Given the description of an element on the screen output the (x, y) to click on. 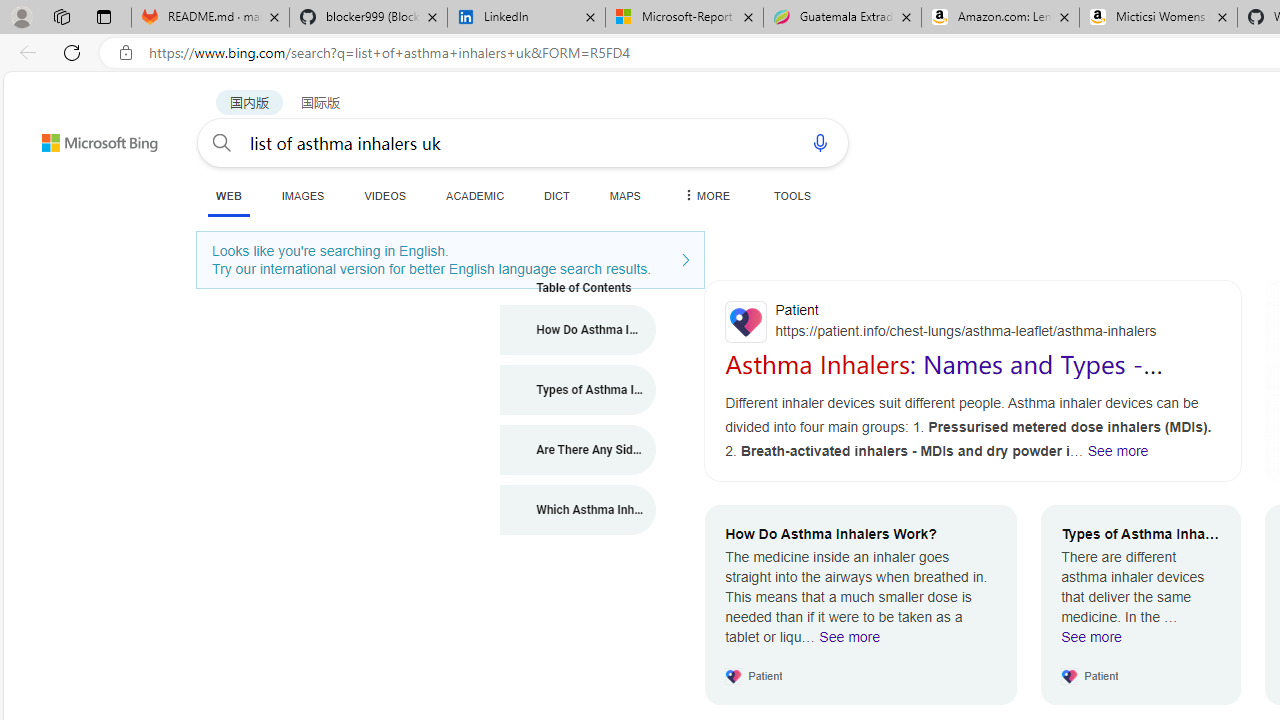
Dropdown Menu (705, 195)
WEB (228, 195)
WEB (228, 196)
